Given the description of an element on the screen output the (x, y) to click on. 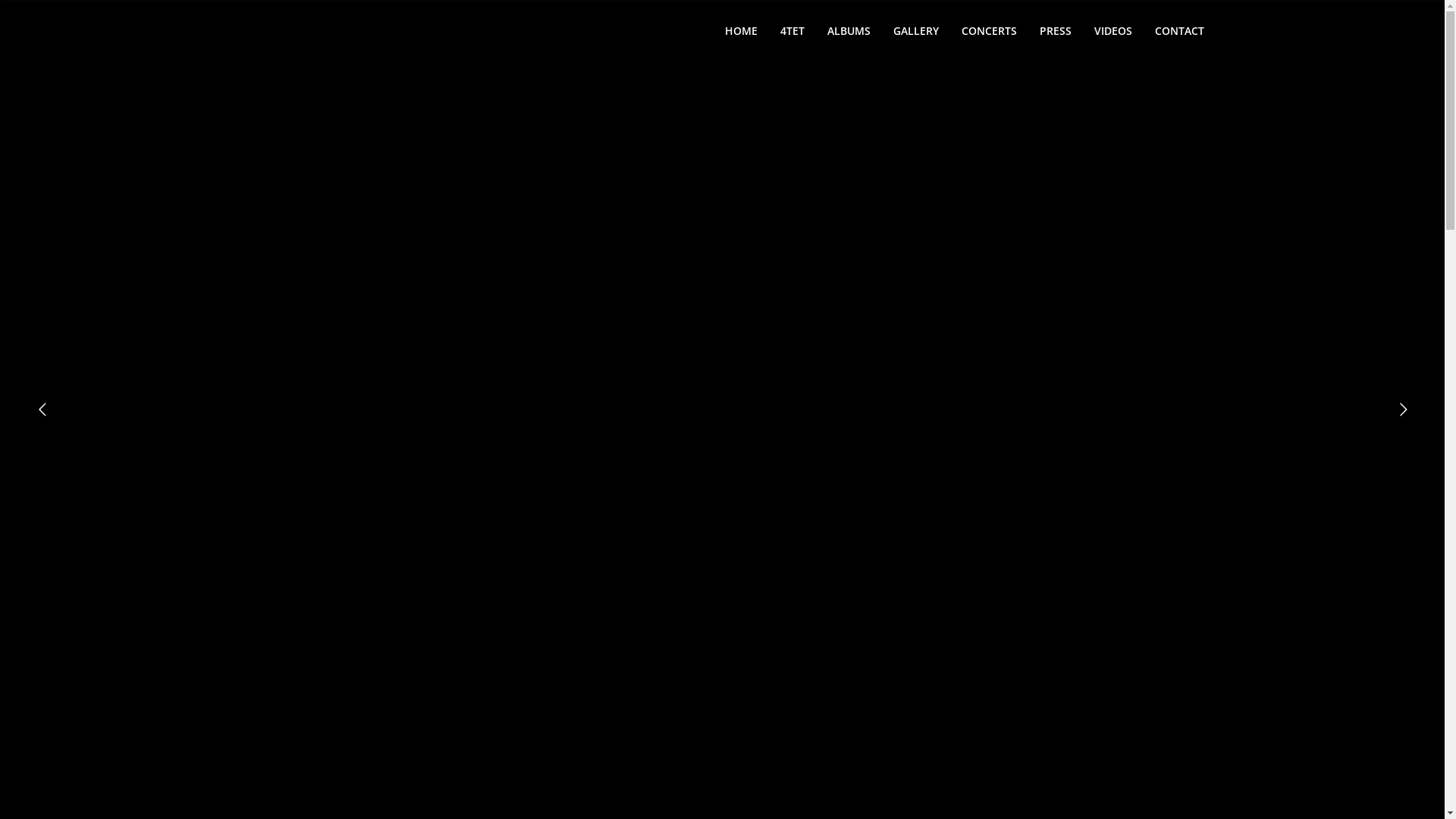
HOME Element type: text (740, 30)
CONTACT Element type: text (1179, 30)
VIDEOS Element type: text (1112, 30)
PRESS Element type: text (1055, 30)
CONCERTS Element type: text (988, 30)
4TET Element type: text (791, 30)
ALBUMS Element type: text (848, 30)
GALLERY Element type: text (915, 30)
